Given the description of an element on the screen output the (x, y) to click on. 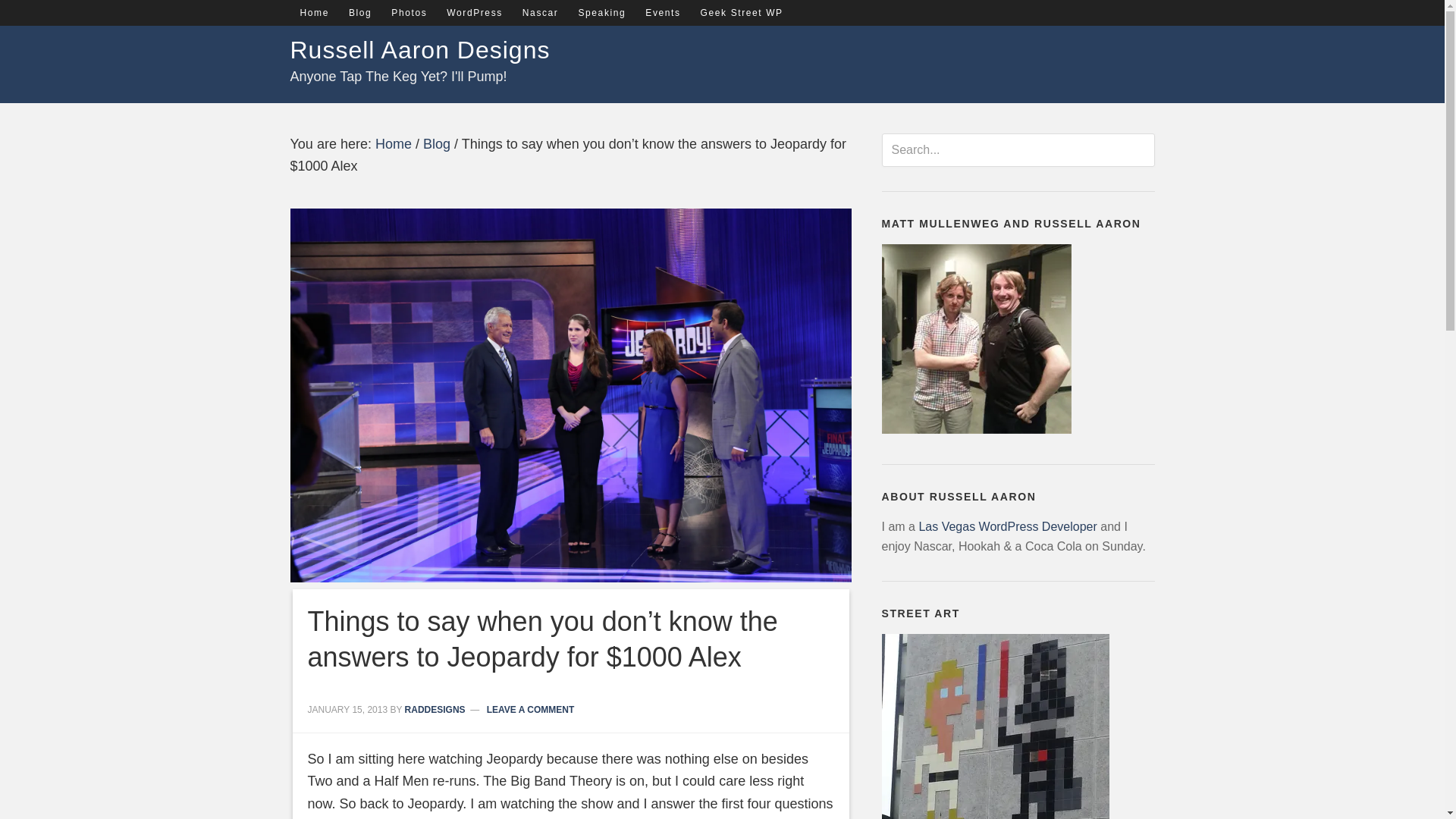
WordPress (474, 12)
Nascar (540, 12)
Blog (360, 12)
Speaking (600, 12)
Blog (436, 143)
Home (313, 12)
Home (393, 143)
Photos (408, 12)
RADDESIGNS (434, 709)
Events (662, 12)
Russell Aaron Designs (419, 49)
LEAVE A COMMENT (530, 709)
